Given the description of an element on the screen output the (x, y) to click on. 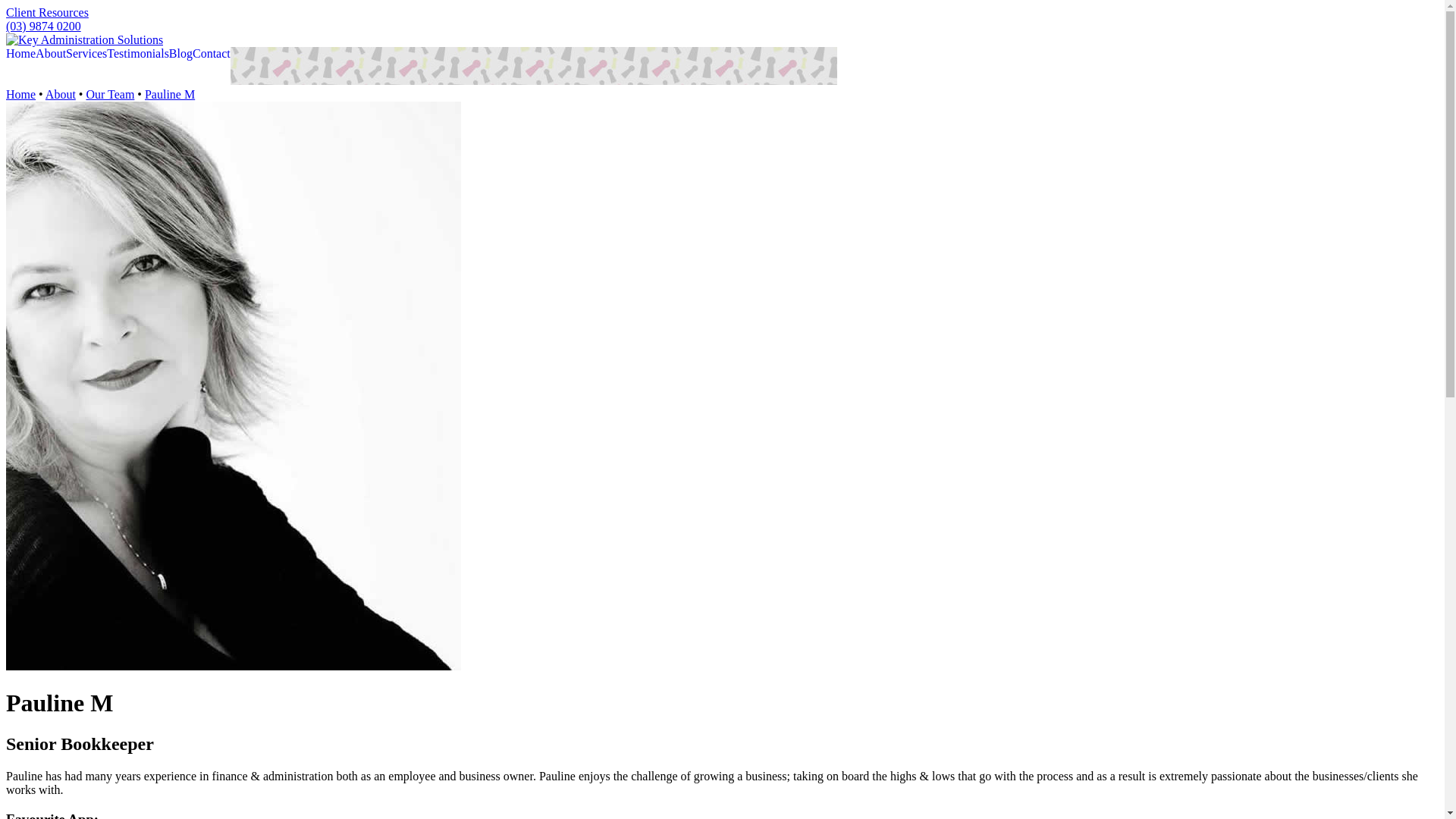
Contact Element type: text (211, 53)
Our Team Element type: text (109, 93)
Testimonials Element type: text (137, 53)
(03) 9874 0200 Element type: text (43, 25)
Home Element type: text (20, 53)
Pauline M Element type: text (169, 93)
About Element type: text (60, 93)
Blog Element type: text (180, 53)
Client Resources Element type: text (47, 12)
Home Element type: text (20, 93)
Services Element type: text (85, 53)
About Element type: text (50, 53)
